Given the description of an element on the screen output the (x, y) to click on. 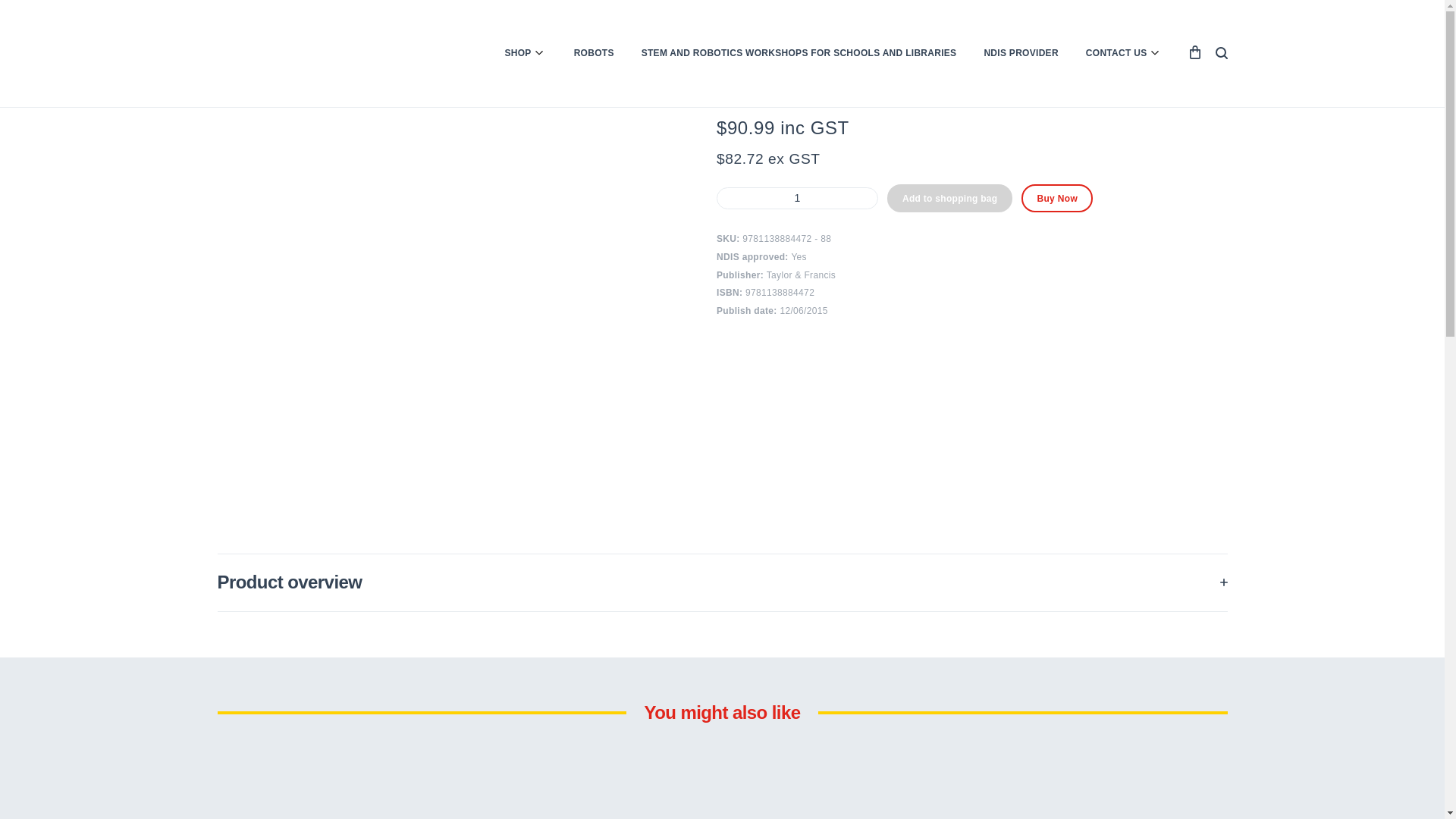
CONTACT US (1124, 52)
Add to shopping bag (948, 198)
Buy Now (1057, 198)
ROBOTS (593, 52)
Shop (229, 26)
SHOP (524, 52)
Shopping bag (1195, 51)
Books (267, 26)
1 (796, 197)
STEM AND ROBOTICS WORKSHOPS FOR SCHOOLS AND LIBRARIES (798, 52)
